Given the description of an element on the screen output the (x, y) to click on. 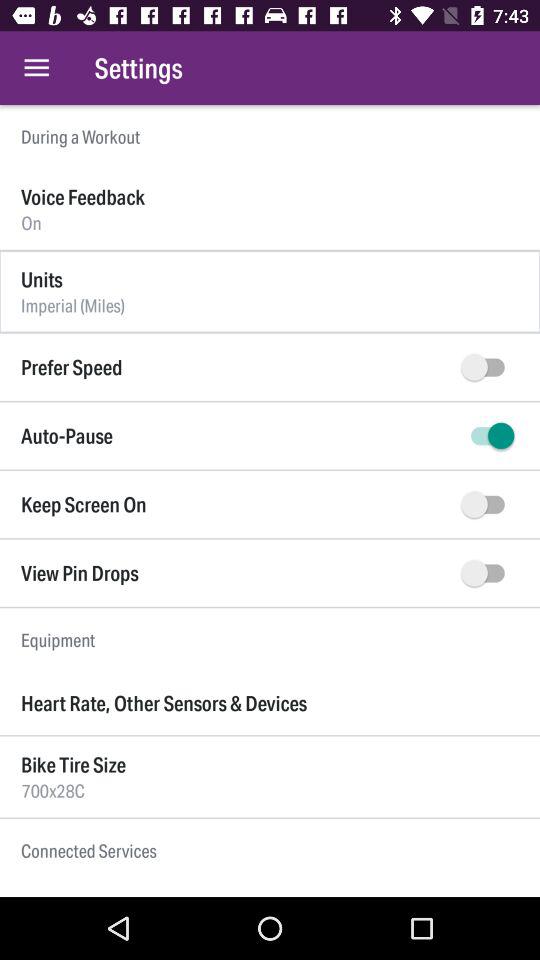
select keep the screen on (487, 504)
